Given the description of an element on the screen output the (x, y) to click on. 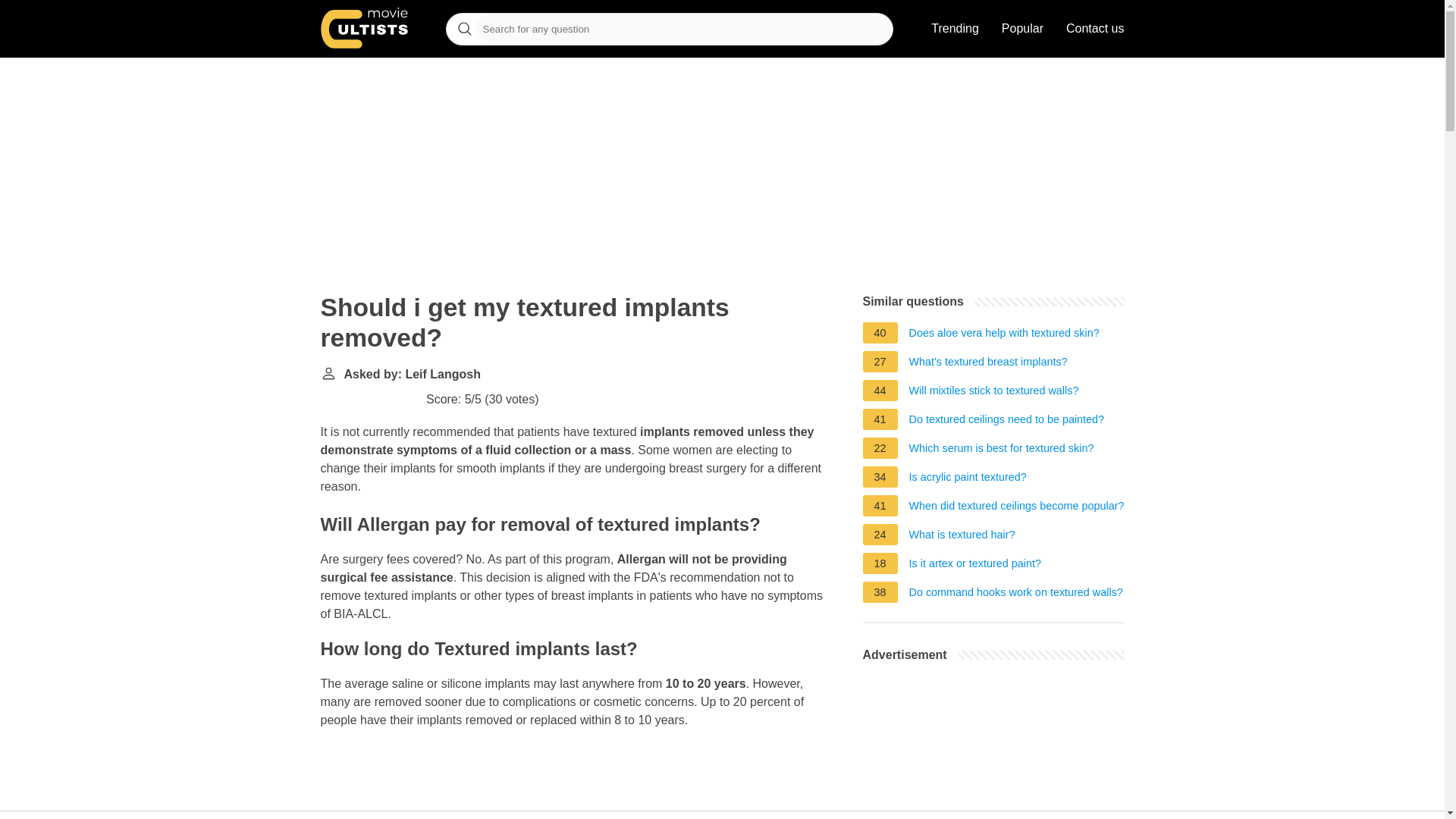
What is textured hair? (961, 536)
Which serum is best for textured skin? (1001, 450)
Trending (954, 28)
Is acrylic paint textured? (967, 478)
When did textured ceilings become popular? (1016, 507)
Will mixtiles stick to textured walls? (993, 392)
What's textured breast implants? (987, 363)
Contact us (1094, 28)
Do textured ceilings need to be painted? (1006, 421)
Popular (1022, 28)
